Given the description of an element on the screen output the (x, y) to click on. 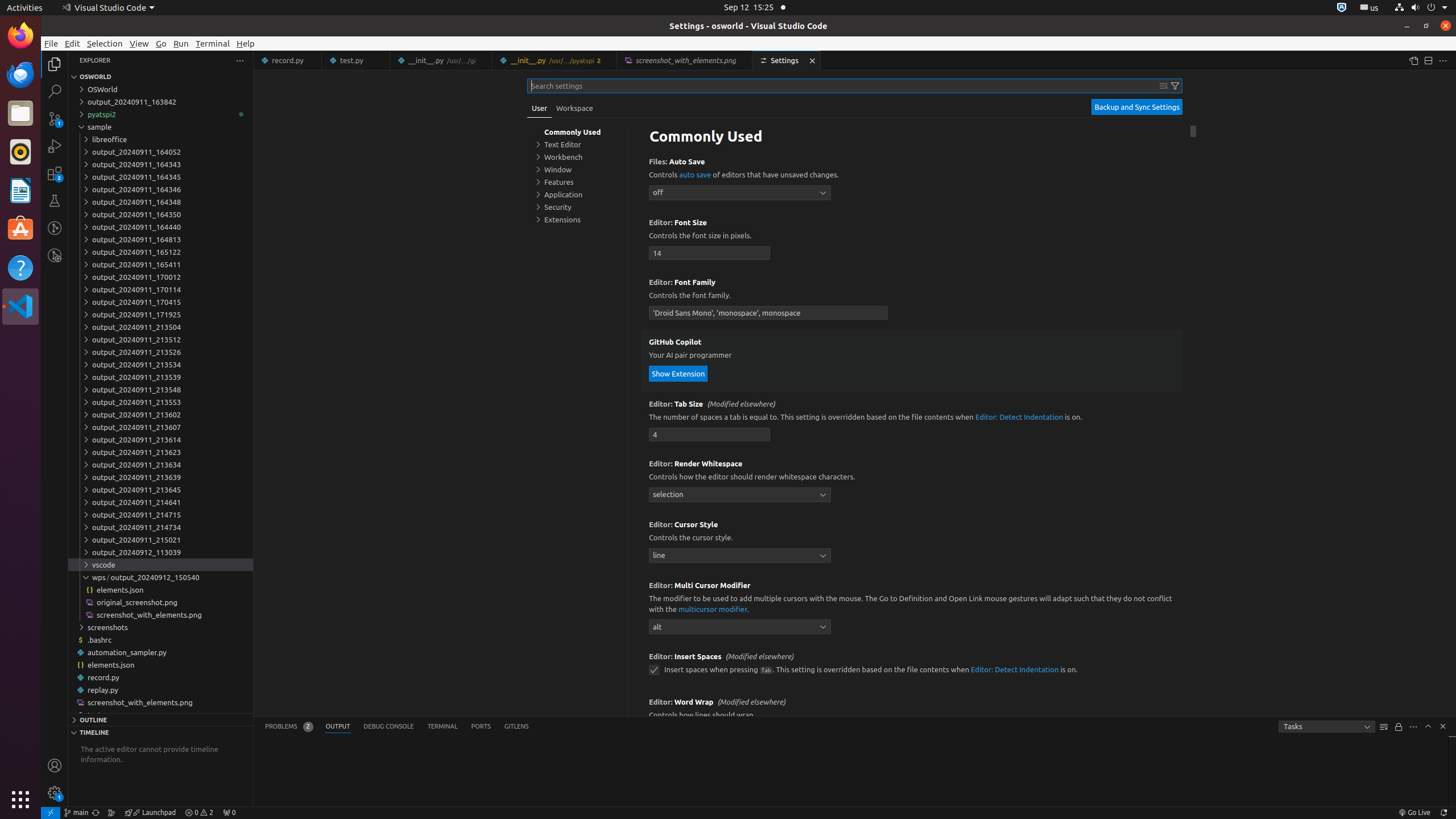
output_20240911_213504 Element type: tree-item (160, 326)
OSWorld (Git) - main, Checkout Branch/Tag... Element type: push-button (75, 812)
Filter Settings Element type: push-button (1174, 85)
rocket gitlens-unplug Launchpad, GitLens Launchpad ᴘʀᴇᴠɪᴇᴡ    &mdash;    [$(question)](command:gitlens.launchpad.indicator.action?%22info%22 "What is this?") [$(gear)](command:workbench.action.openSettings?%22gitlens.launchpad%22 "Settings")  |  [$(circle-slash) Hide](command:gitlens.launchpad.indicator.action?%22hide%22 "Hide") --- [Launchpad](command:gitlens.launchpad.indicator.action?%info%22 "Learn about Launchpad") organizes your pull requests into actionable groups to help you focus and keep your team unblocked. It's always accessible using the `GitLens: Open Launchpad` command from the Command Palette. --- [Connect an integration](command:gitlens.showLaunchpad?%7B%22source%22%3A%22launchpad-indicator%22%7D "Connect an integration") to get started. Element type: push-button (150, 812)
Extensions, group Element type: tree-item (577, 219)
